Given the description of an element on the screen output the (x, y) to click on. 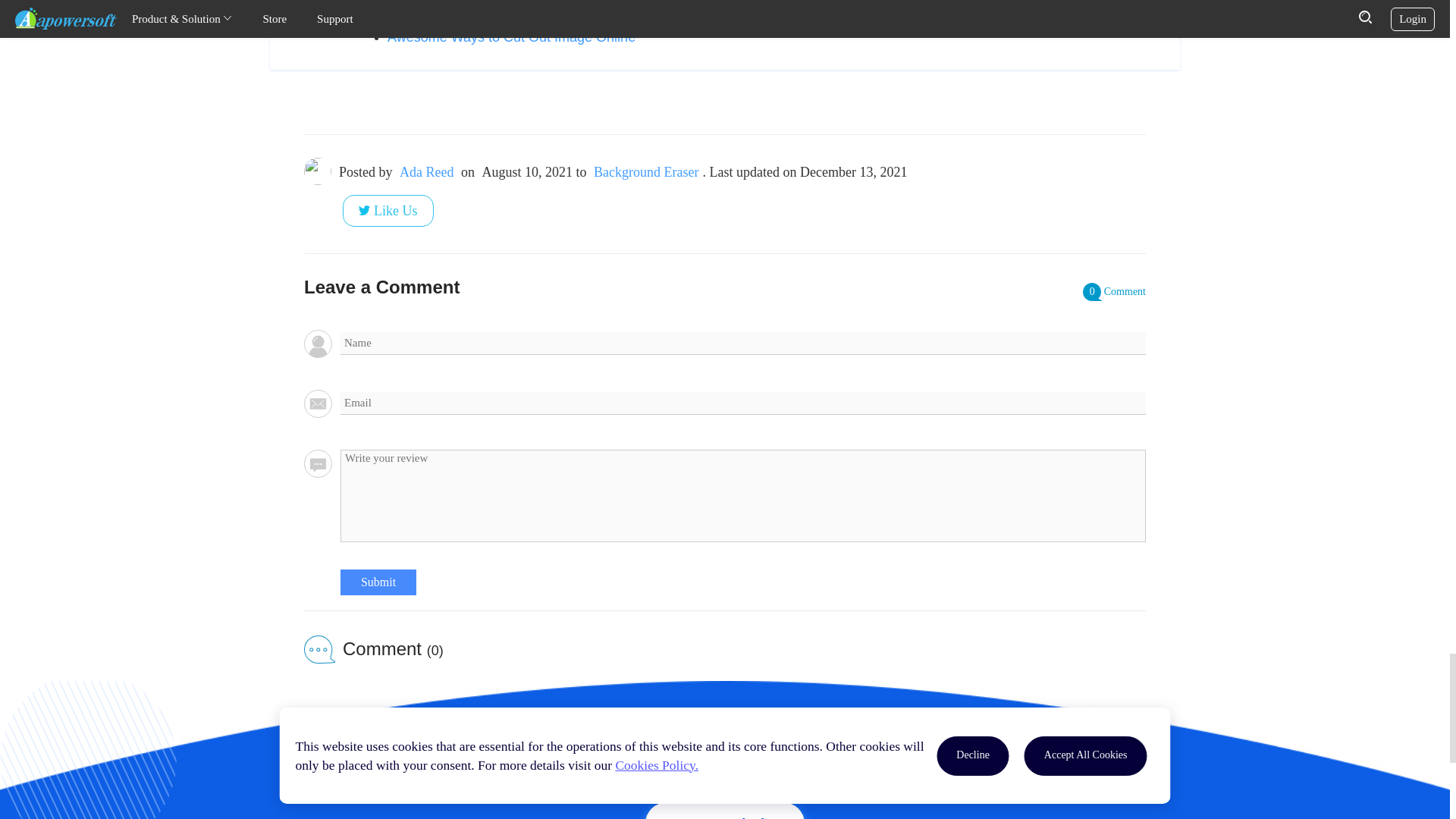
Awesome Ways to Cut Out Image Online (510, 37)
Best 7 Picture Background Editor 2022 (505, 14)
